Given the description of an element on the screen output the (x, y) to click on. 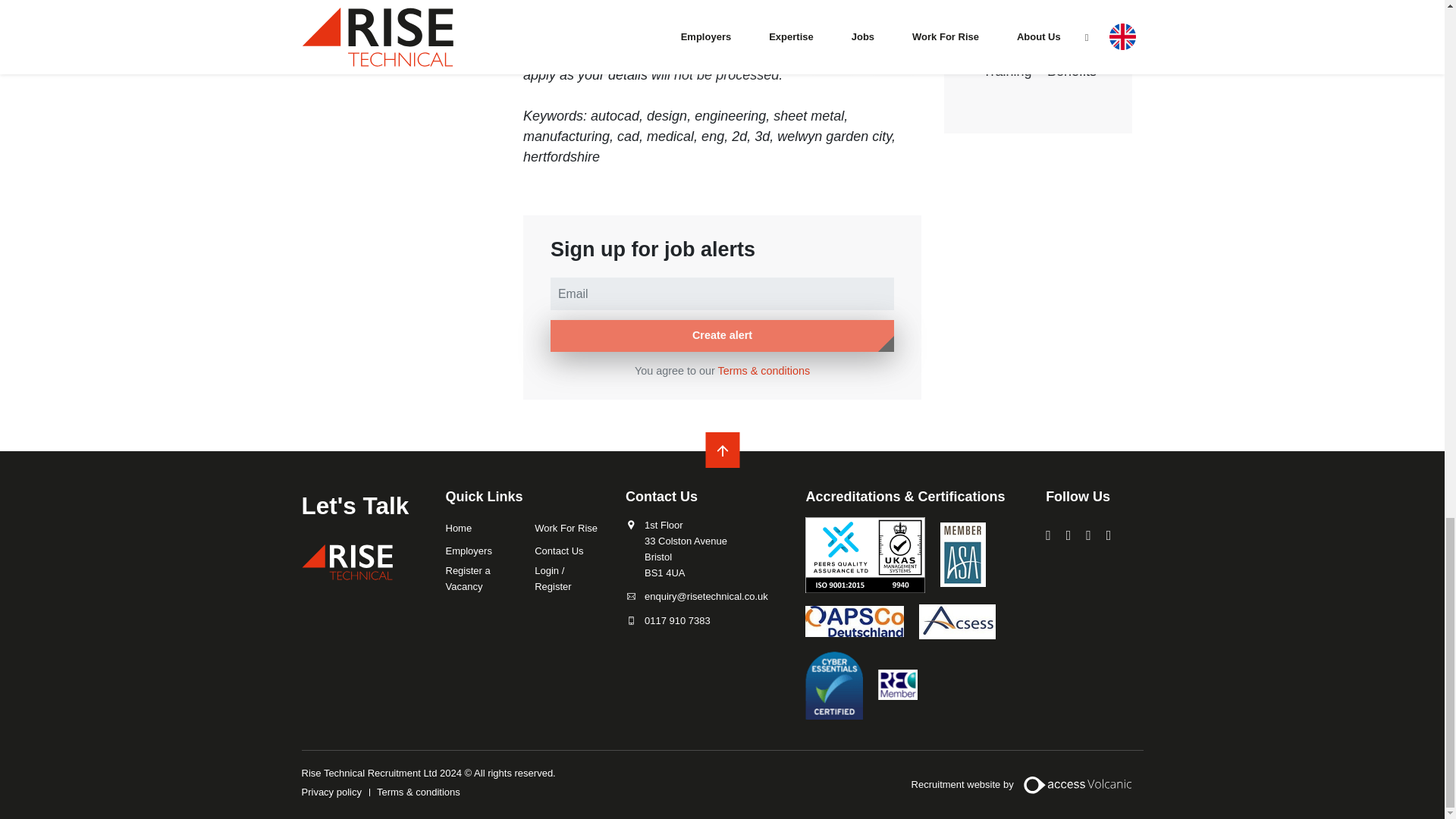
Up (722, 450)
Rise Technical Recruitment Ltd (347, 561)
Rise Technical Recruitment Ltd (347, 561)
